Given the description of an element on the screen output the (x, y) to click on. 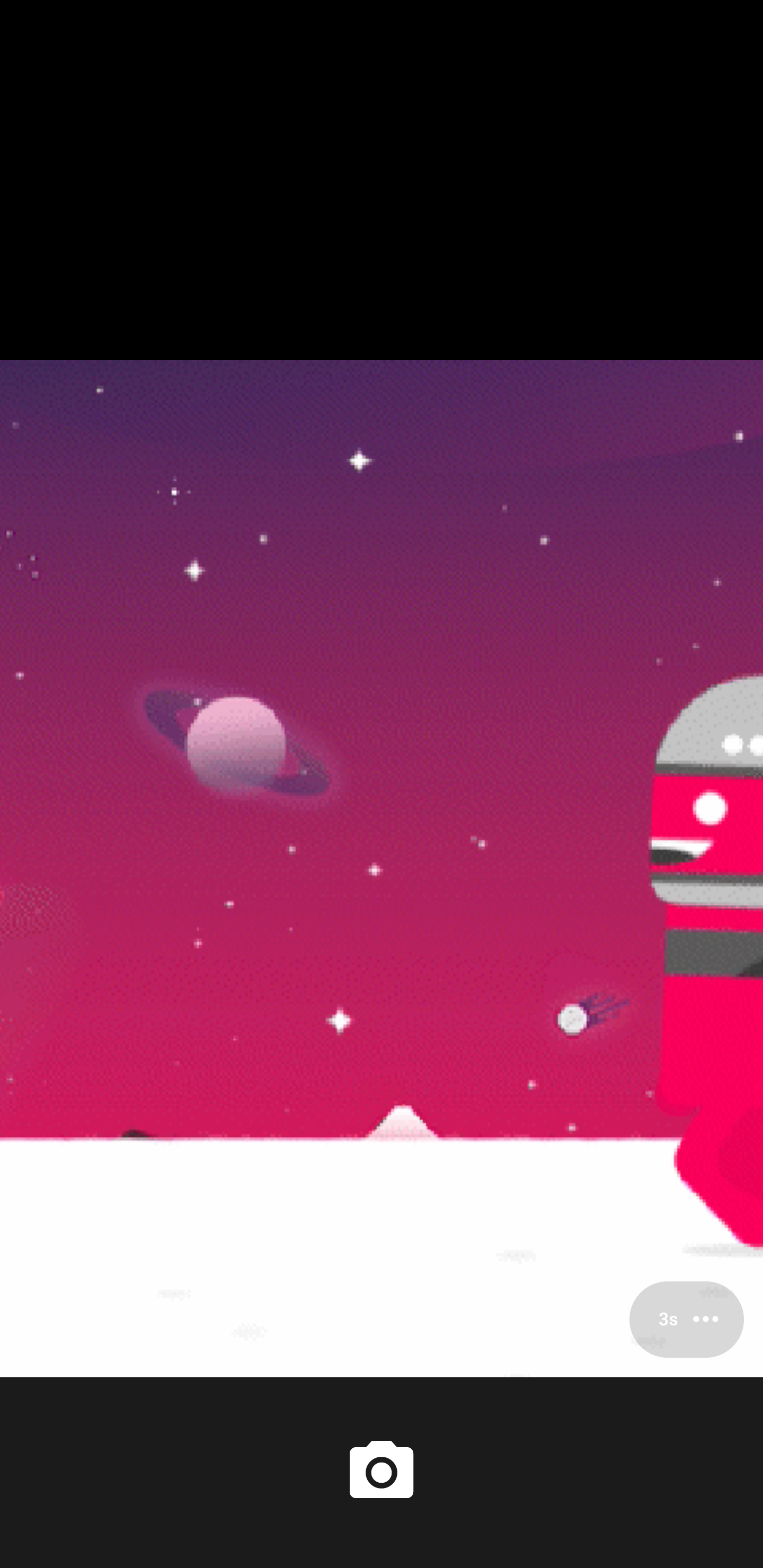
Options (686, 1319)
Shutter (381, 1472)
